Given the description of an element on the screen output the (x, y) to click on. 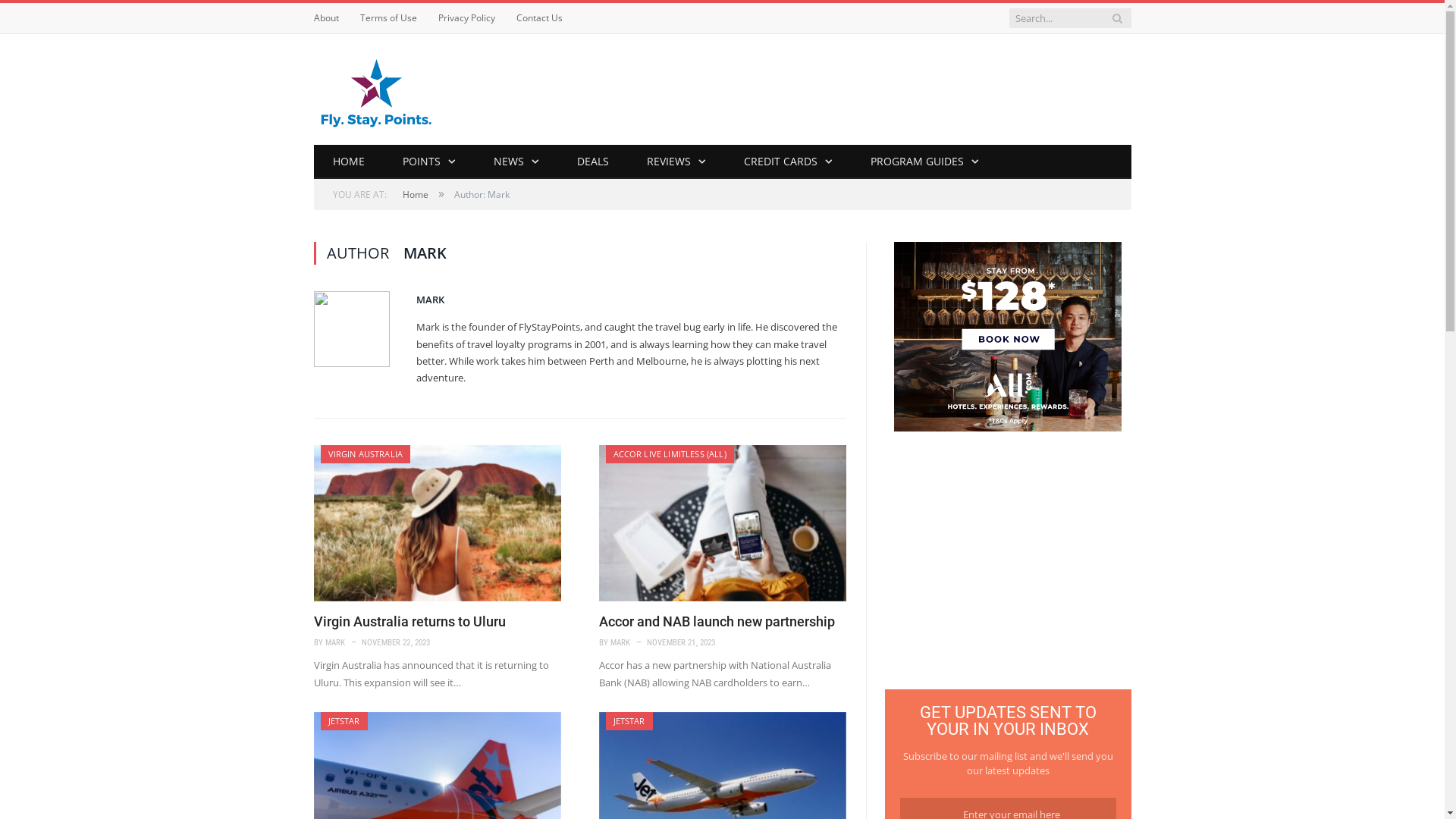
ACCOR LIVE LIMITLESS (ALL) Element type: text (668, 453)
NEWS Element type: text (516, 161)
Advertisement Element type: hover (855, 89)
About Element type: text (325, 17)
MARK Element type: text (429, 299)
Virgin Australia returns to Uluru Element type: hover (437, 522)
Terms of Use Element type: text (387, 17)
Privacy Policy Element type: text (466, 17)
Contact Us Element type: text (538, 17)
Accor and NAB launch new partnership Element type: hover (722, 522)
HOME Element type: text (348, 161)
PROGRAM GUIDES Element type: text (923, 161)
VIRGIN AUSTRALIA Element type: text (364, 453)
MARK Element type: text (335, 642)
Virgin Australia returns to Uluru Element type: text (409, 621)
Fly Stay Points Element type: hover (376, 88)
CREDIT CARDS Element type: text (787, 161)
REVIEWS Element type: text (675, 161)
MARK Element type: text (620, 642)
Home Element type: text (414, 194)
JETSTAR Element type: text (628, 720)
POINTS Element type: text (428, 161)
DEALS Element type: text (592, 161)
JETSTAR Element type: text (343, 720)
Accor and NAB launch new partnership Element type: text (716, 621)
Advertisement Element type: hover (1007, 561)
